Given the description of an element on the screen output the (x, y) to click on. 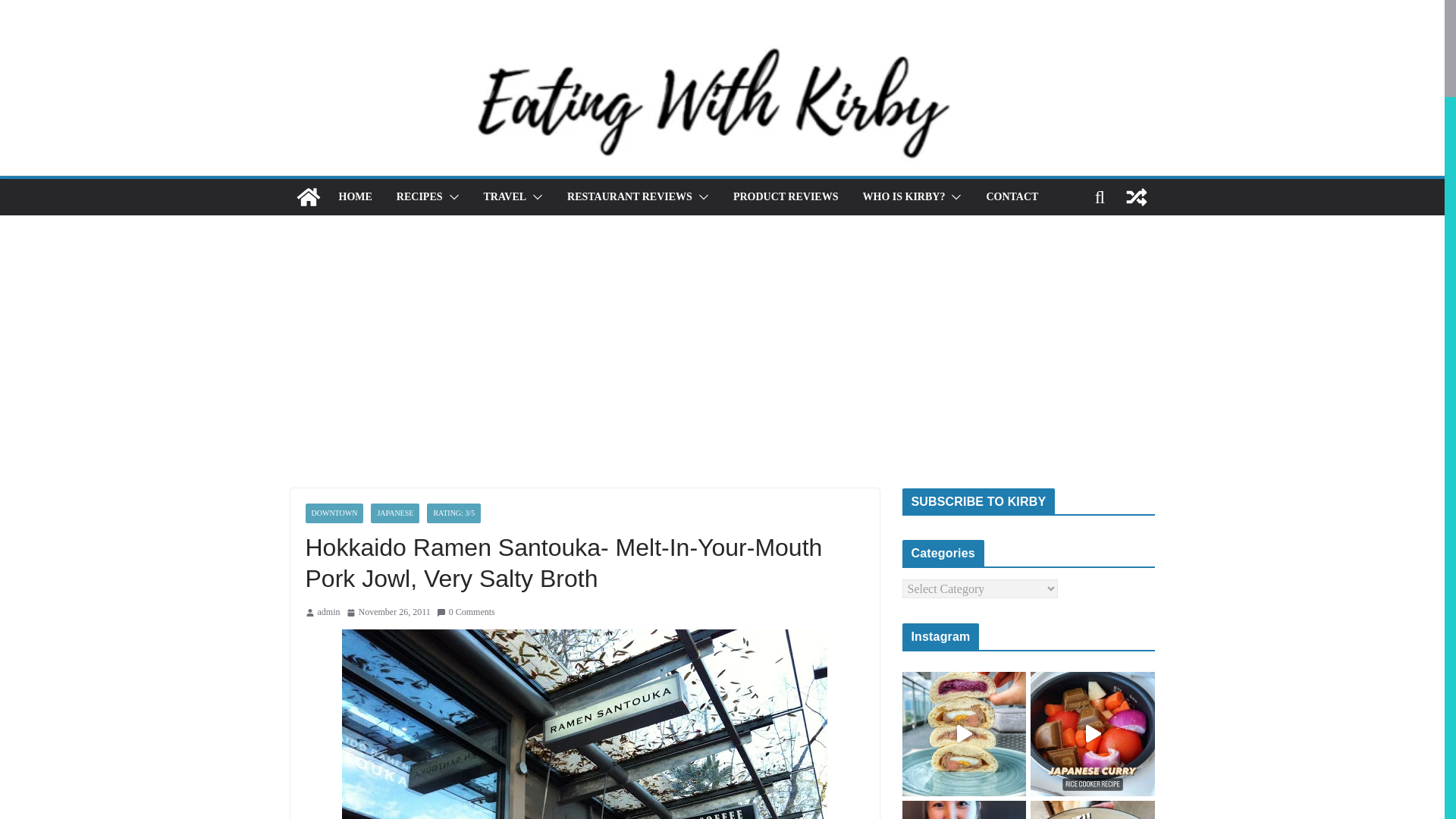
admin (328, 612)
10:42 am (387, 612)
TRAVEL (505, 197)
RESTAURANT REVIEWS (630, 197)
View a random post (1136, 197)
RECIPES (419, 197)
HOME (354, 197)
EATING with Kirby (307, 197)
